Given the description of an element on the screen output the (x, y) to click on. 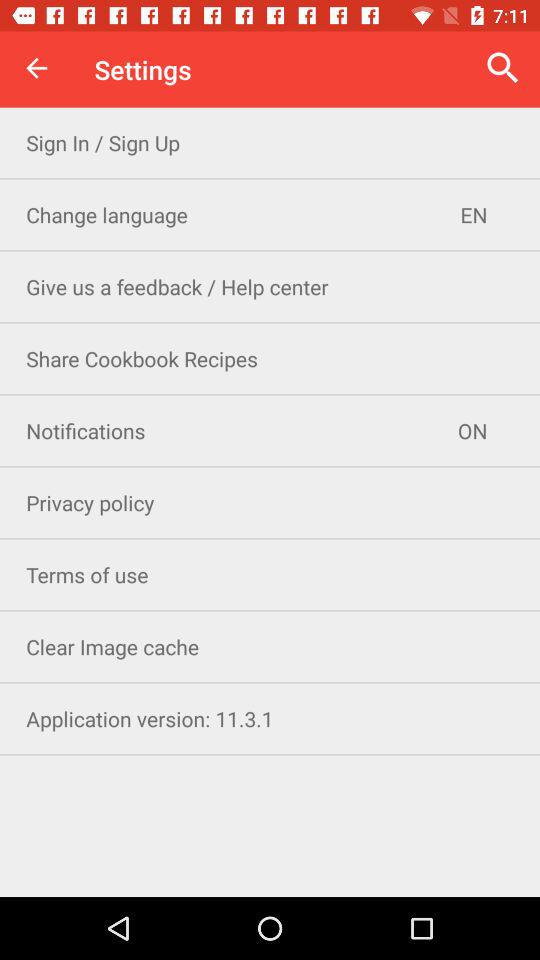
jump to the share cookbook recipes  icon (270, 358)
